Given the description of an element on the screen output the (x, y) to click on. 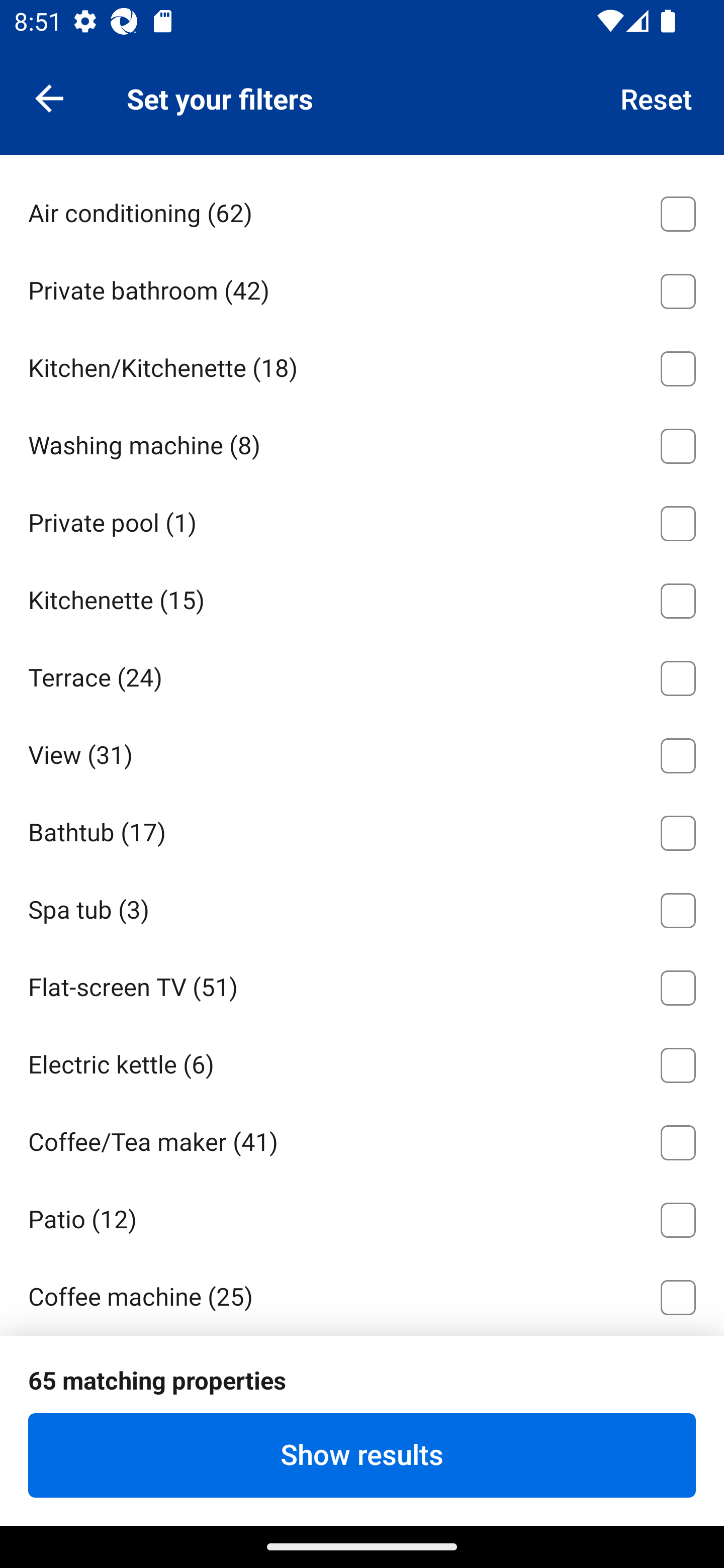
Navigate up (49, 97)
Reset (656, 97)
Air conditioning ⁦(62) (361, 210)
Private bathroom ⁦(42) (361, 287)
Kitchen/Kitchenette ⁦(18) (361, 365)
Washing machine ⁦(8) (361, 442)
Private pool ⁦(1) (361, 519)
Kitchenette ⁦(15) (361, 597)
Terrace ⁦(24) (361, 674)
View ⁦(31) (361, 751)
Bathtub ⁦(17) (361, 829)
Spa tub ⁦(3) (361, 906)
Flat-screen TV ⁦(51) (361, 984)
Electric kettle ⁦(6) (361, 1061)
Coffee/Tea maker ⁦(41) (361, 1138)
Patio ⁦(12) (361, 1216)
Coffee machine ⁦(25) (361, 1293)
Show results (361, 1454)
